Given the description of an element on the screen output the (x, y) to click on. 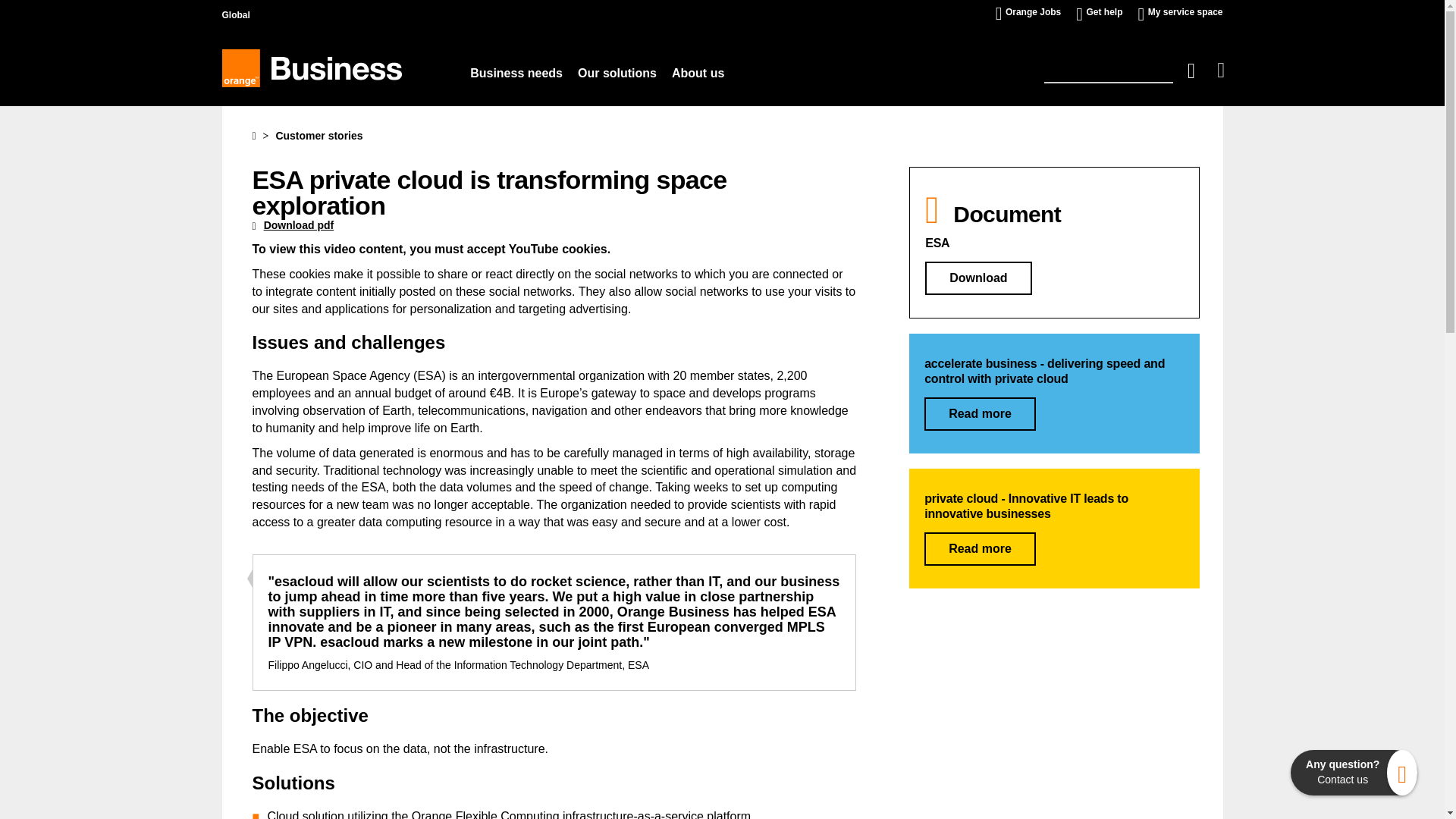
Home (253, 135)
Get help (1104, 11)
Orange Jobs (1033, 11)
My Service Space (1185, 11)
Orange Business (311, 67)
